Given the description of an element on the screen output the (x, y) to click on. 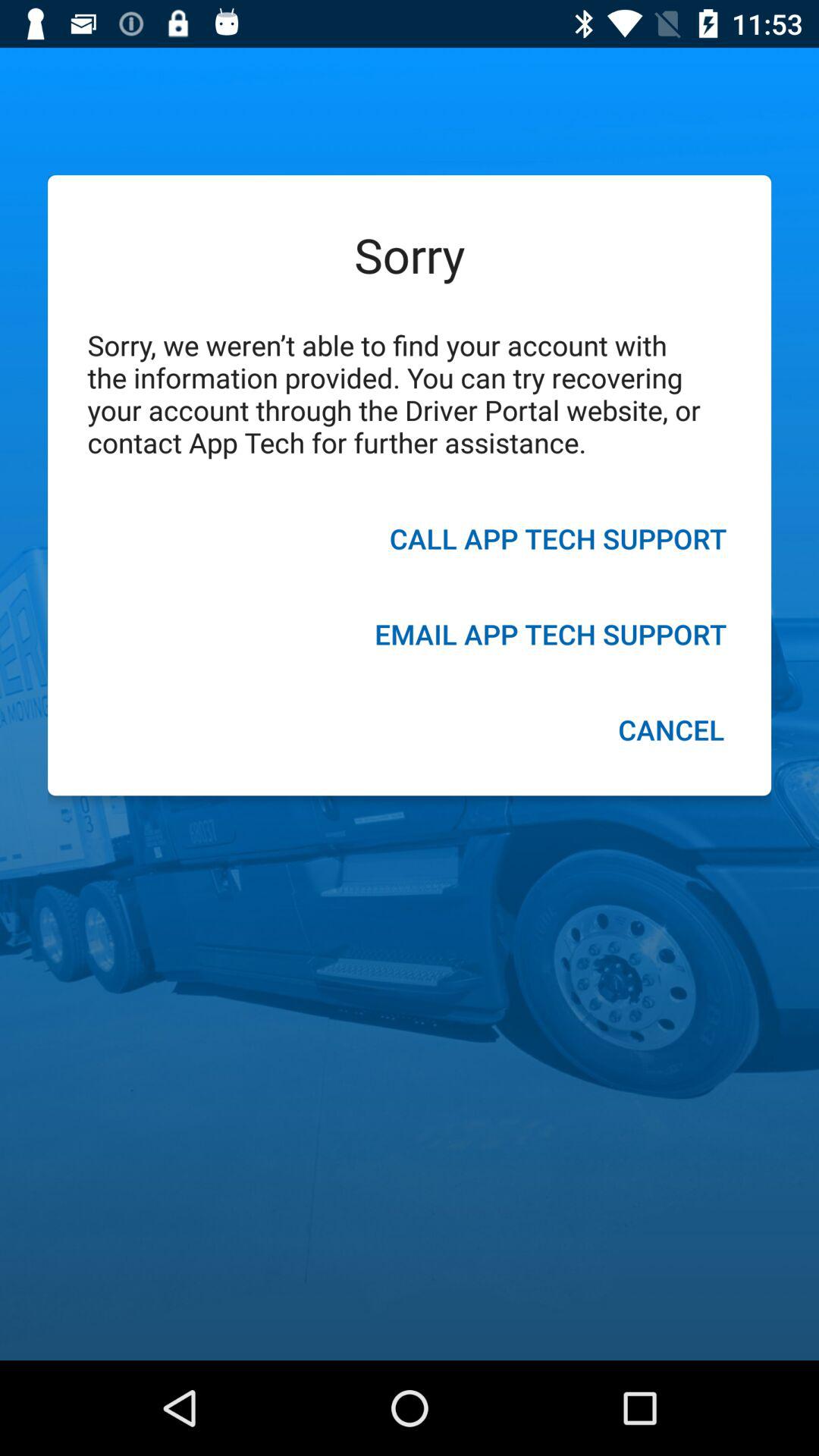
launch cancel item (670, 731)
